Given the description of an element on the screen output the (x, y) to click on. 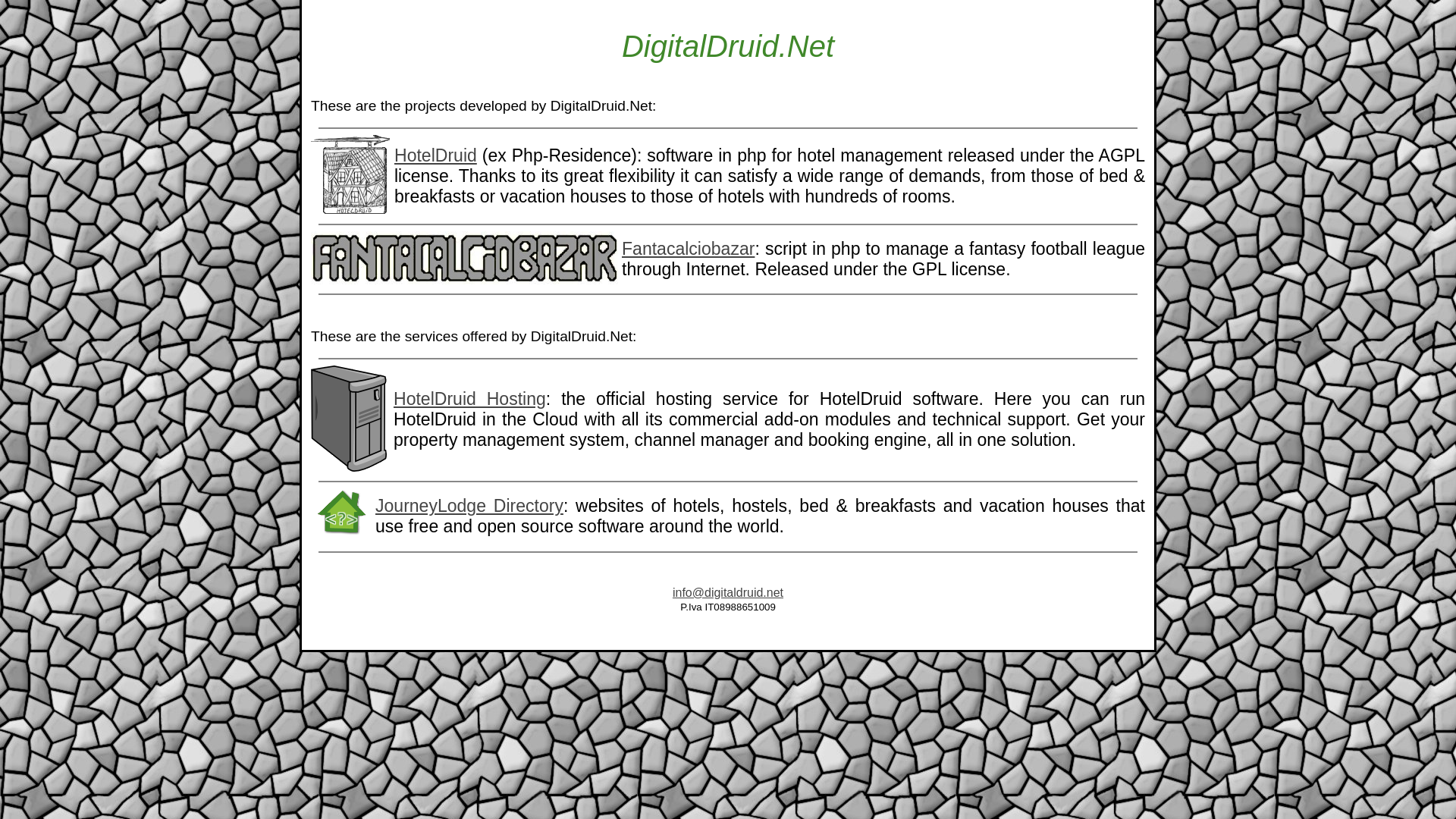
HotelDruid Hosting (469, 398)
HotelDruid (435, 155)
Fantacalciobazar (687, 248)
JourneyLodge Directory (469, 505)
